Given the description of an element on the screen output the (x, y) to click on. 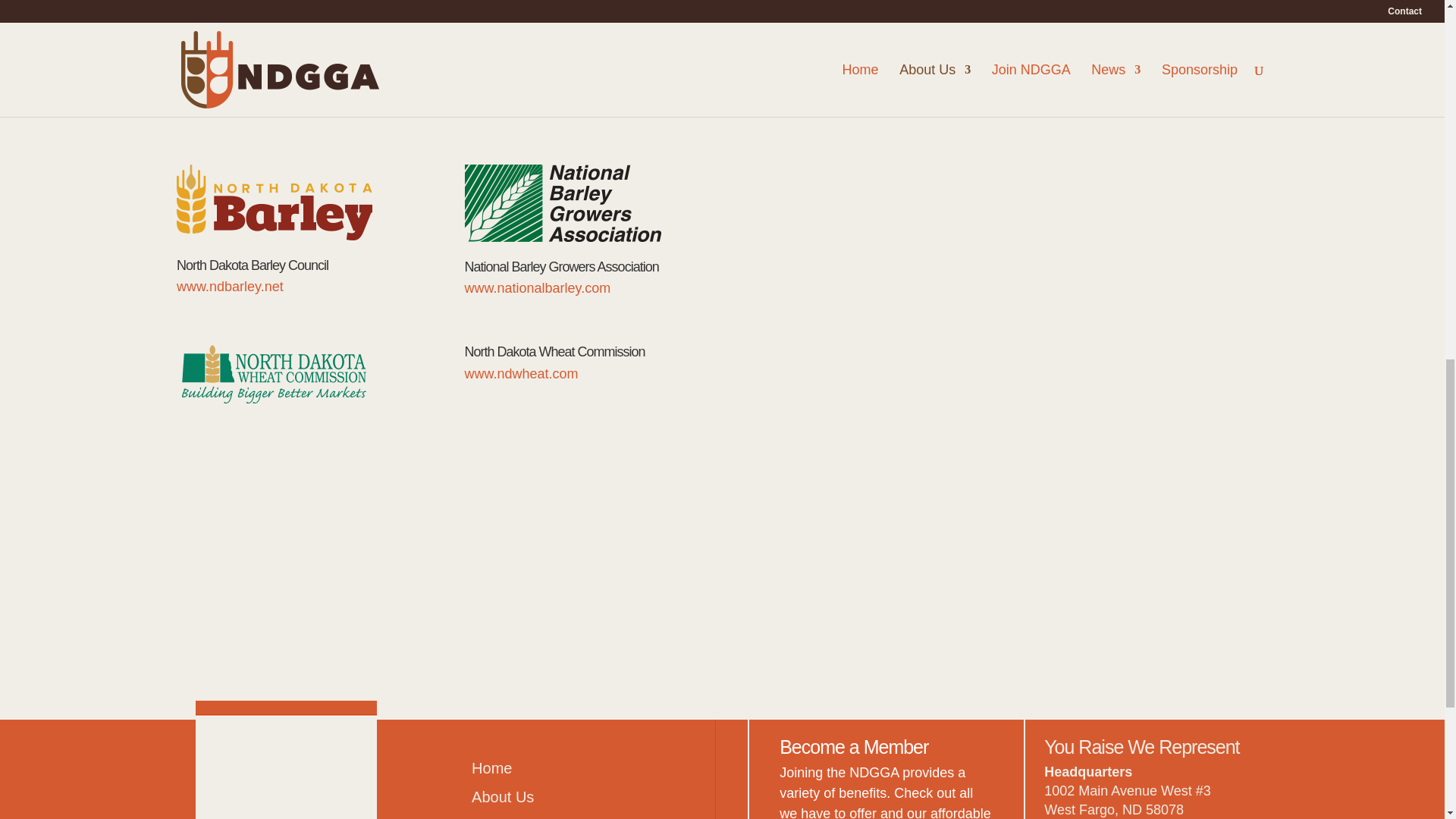
www.ndwheat.com (521, 373)
www.nationalbarley.com (537, 287)
Join NDGGA (515, 818)
About Us (502, 796)
Home (491, 768)
www.ndbarley.net (229, 286)
